Given the description of an element on the screen output the (x, y) to click on. 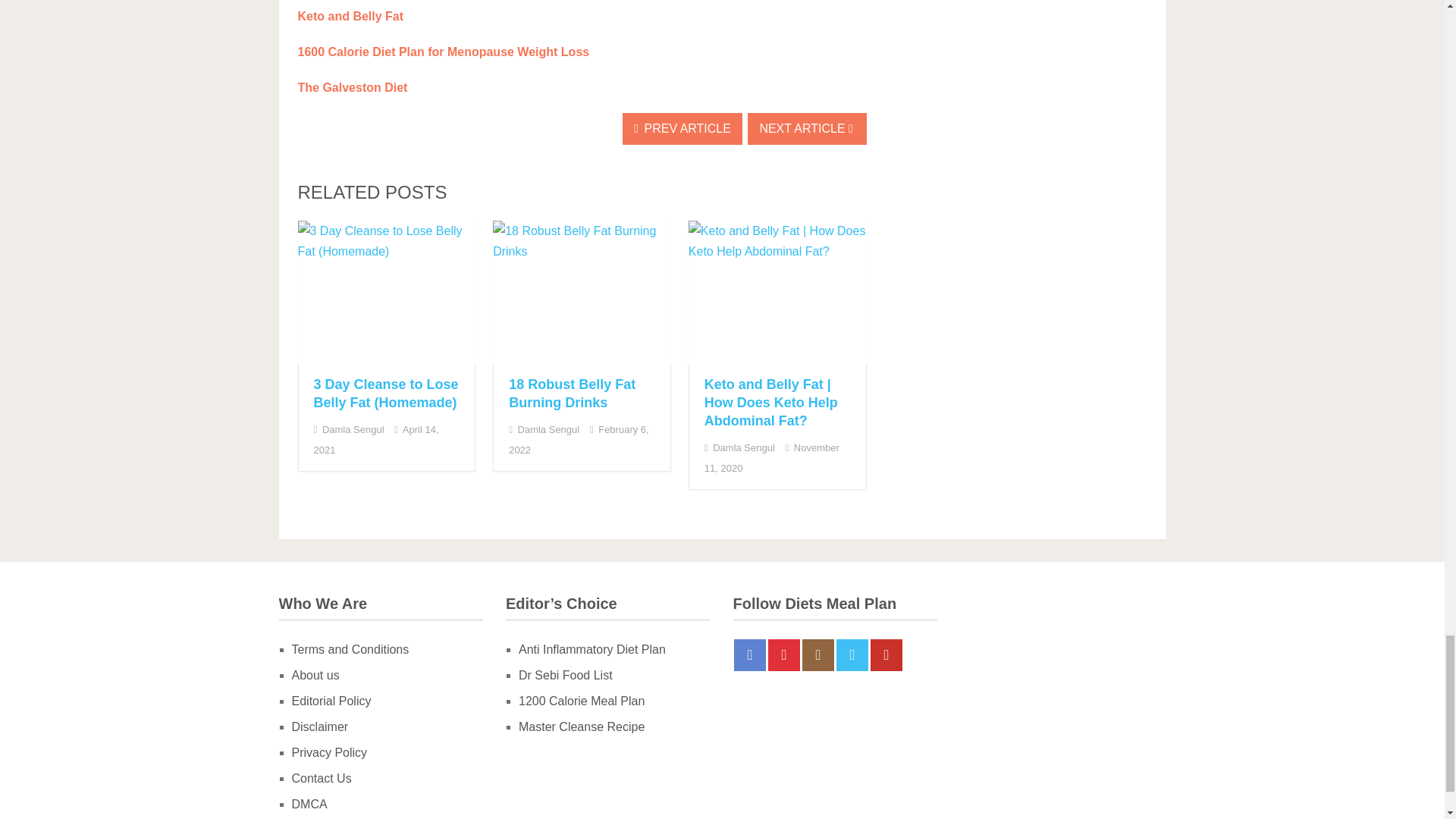
Posts by Damla Sengul (352, 429)
18 Robust Belly Fat Burning Drinks (582, 291)
18 Robust Belly Fat Burning Drinks (571, 393)
Posts by Damla Sengul (548, 429)
